Given the description of an element on the screen output the (x, y) to click on. 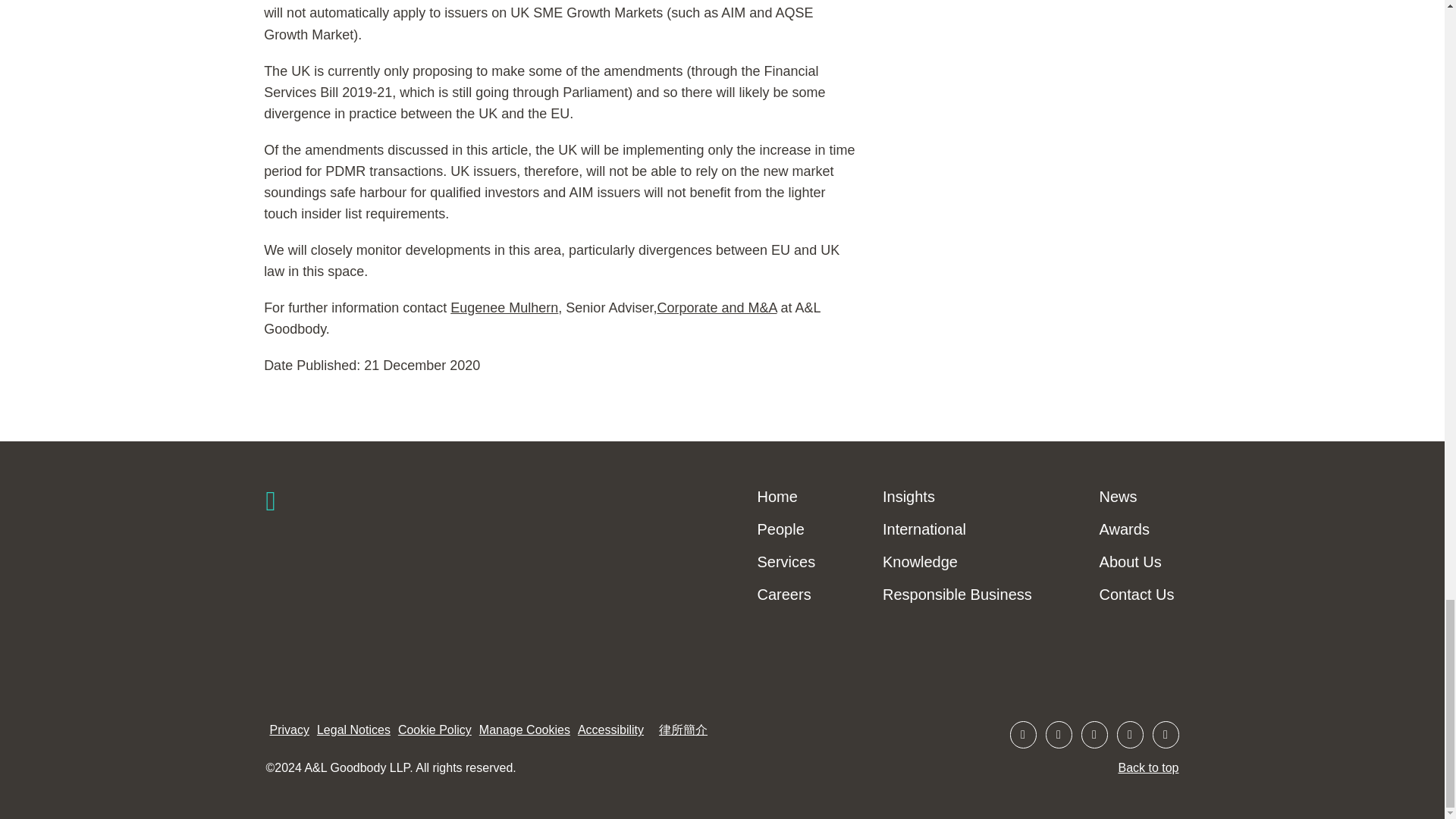
Back to top (1147, 768)
Back to top (1147, 767)
